Given the description of an element on the screen output the (x, y) to click on. 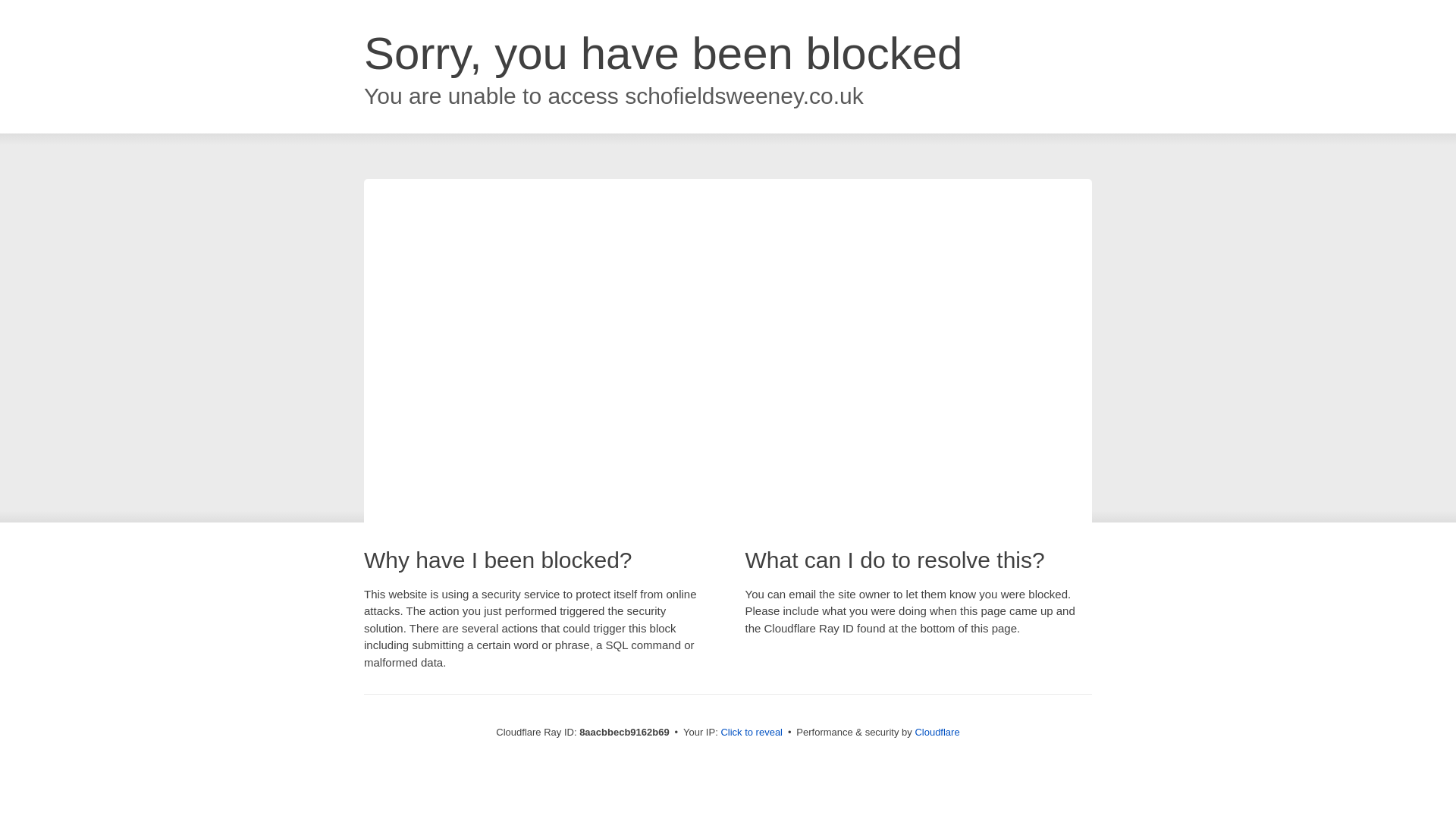
Cloudflare (936, 731)
Click to reveal (751, 732)
